Given the description of an element on the screen output the (x, y) to click on. 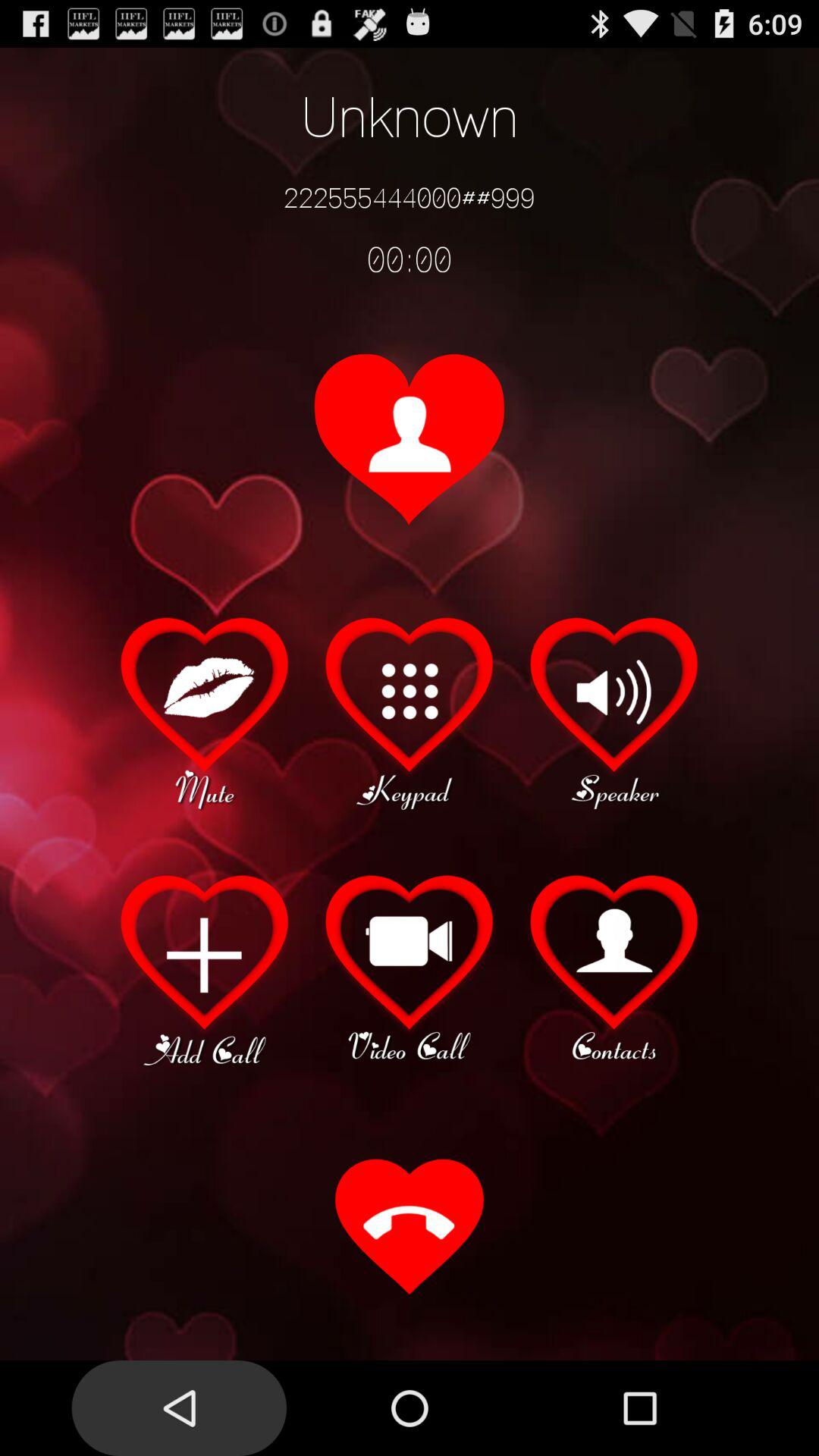
add another call (204, 968)
